Given the description of an element on the screen output the (x, y) to click on. 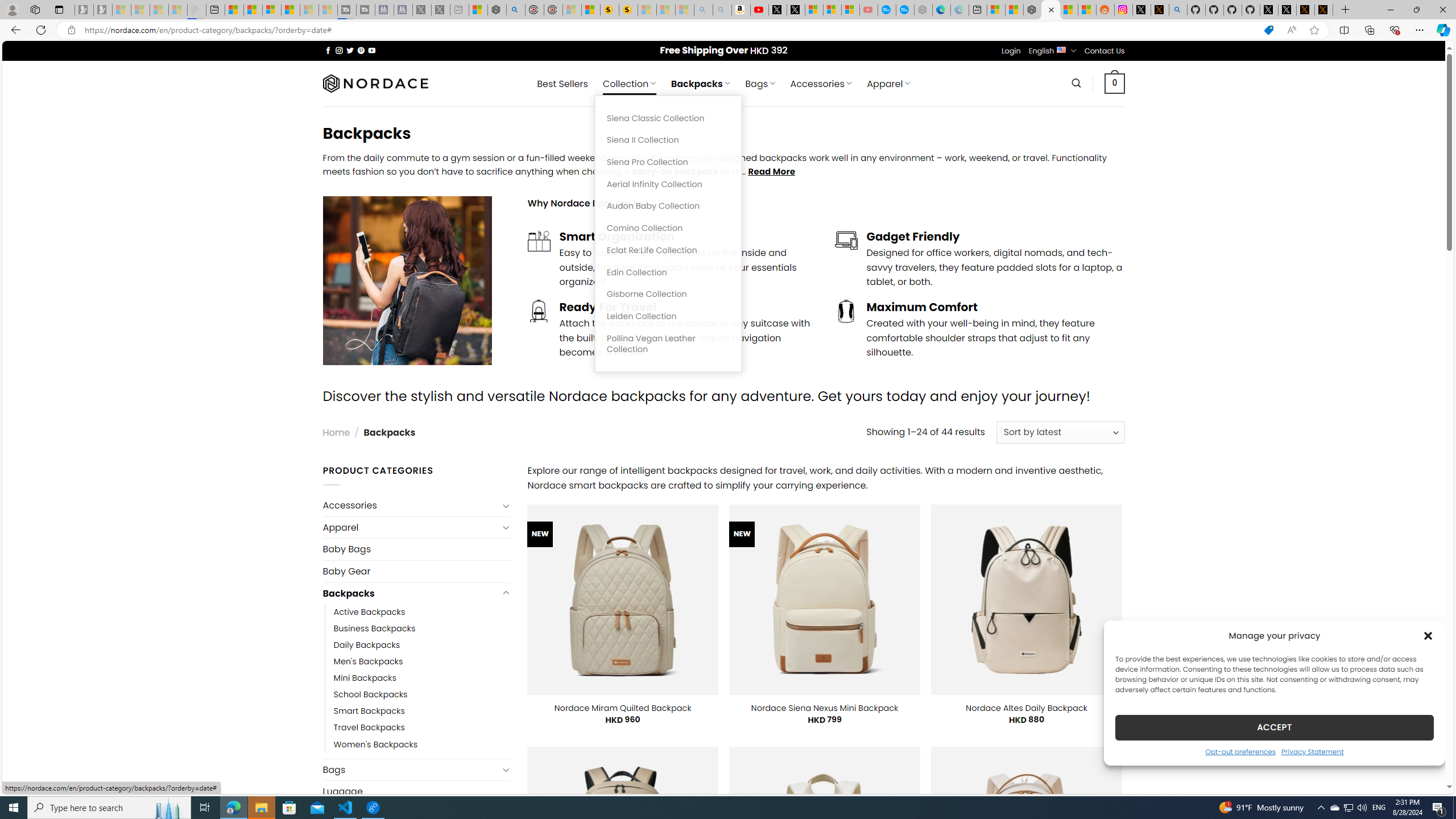
Nordace Altes Daily Backpack (1026, 708)
Women's Backpacks (375, 744)
View site information (70, 29)
Nordace (374, 83)
Newsletter Sign Up - Sleeping (102, 9)
Active Backpacks (369, 612)
